Given the description of an element on the screen output the (x, y) to click on. 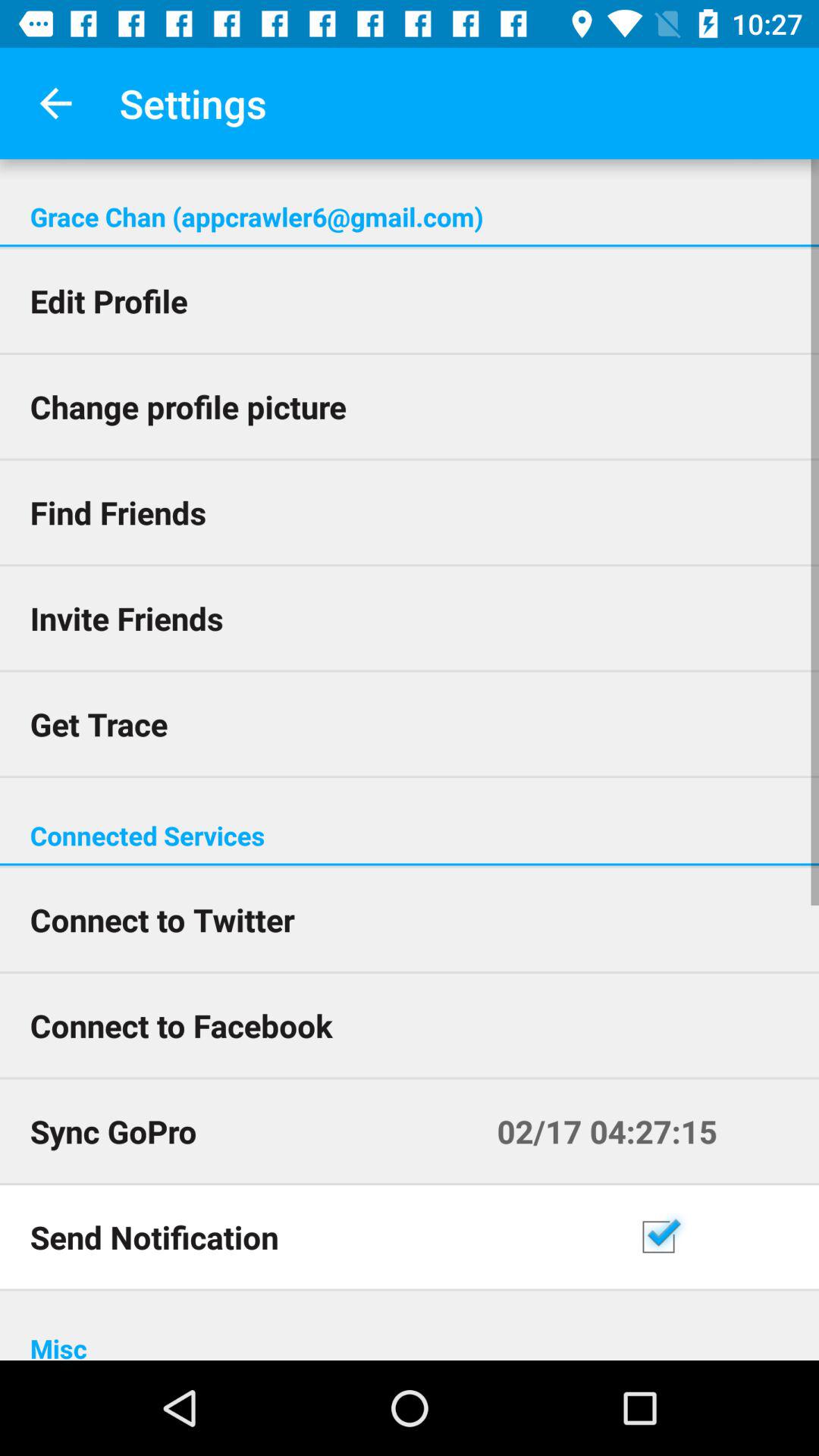
jump until the find friends (409, 512)
